Given the description of an element on the screen output the (x, y) to click on. 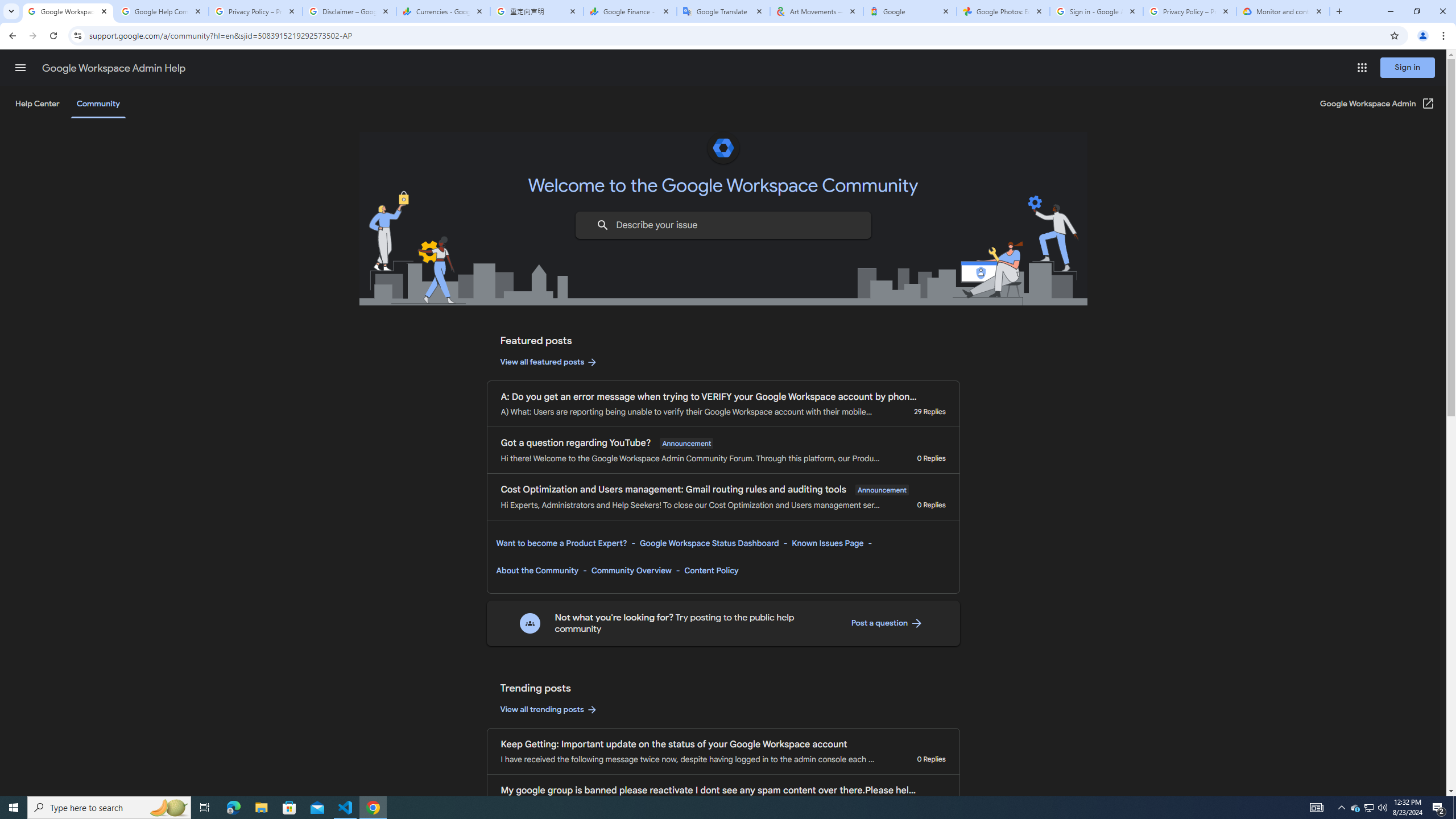
Save As (59, 380)
Get Add-ins (59, 286)
Browse (288, 321)
Info (59, 318)
This PC (288, 235)
OneDrive (288, 183)
